Given the description of an element on the screen output the (x, y) to click on. 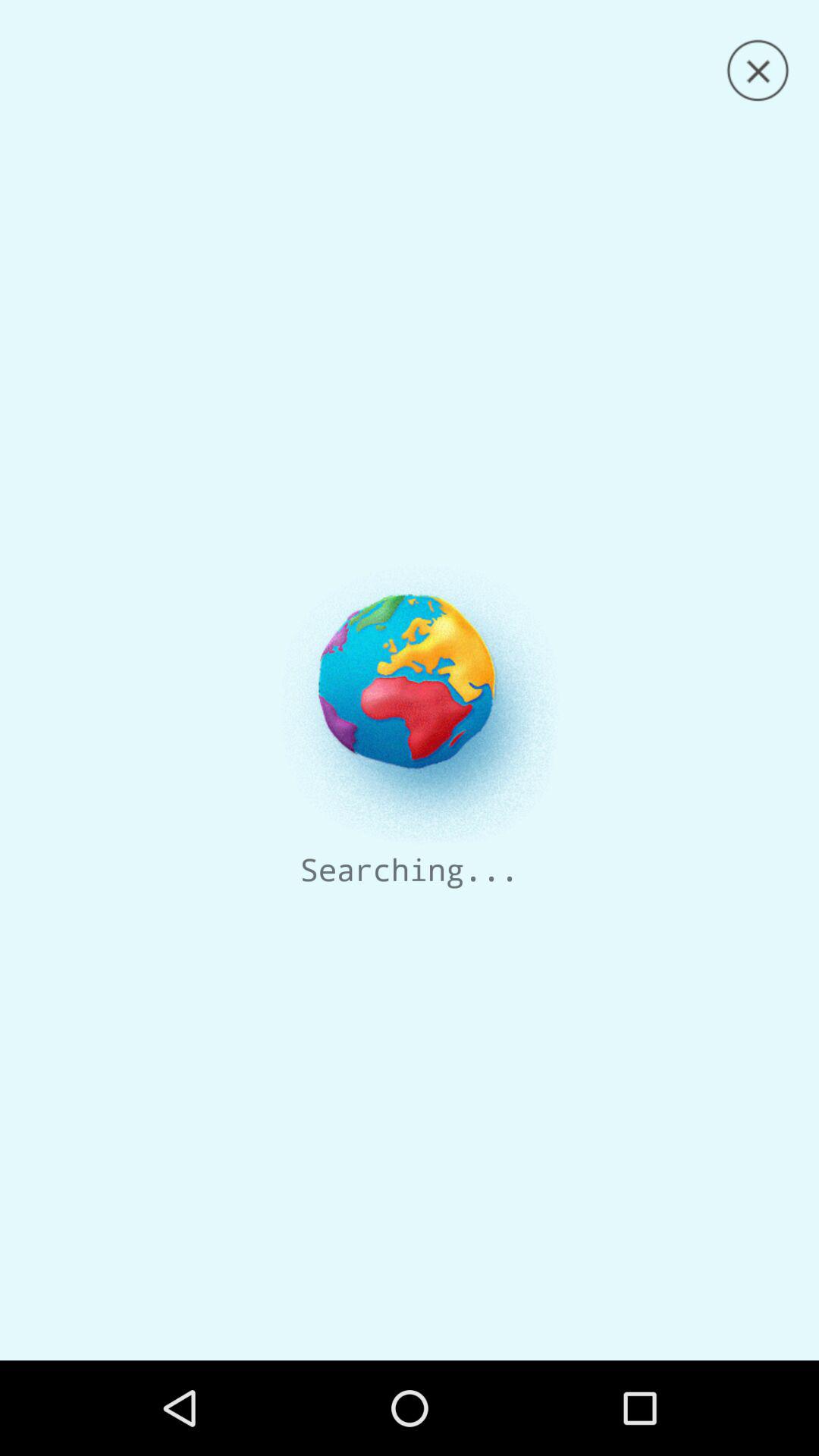
close the page (757, 70)
